Given the description of an element on the screen output the (x, y) to click on. 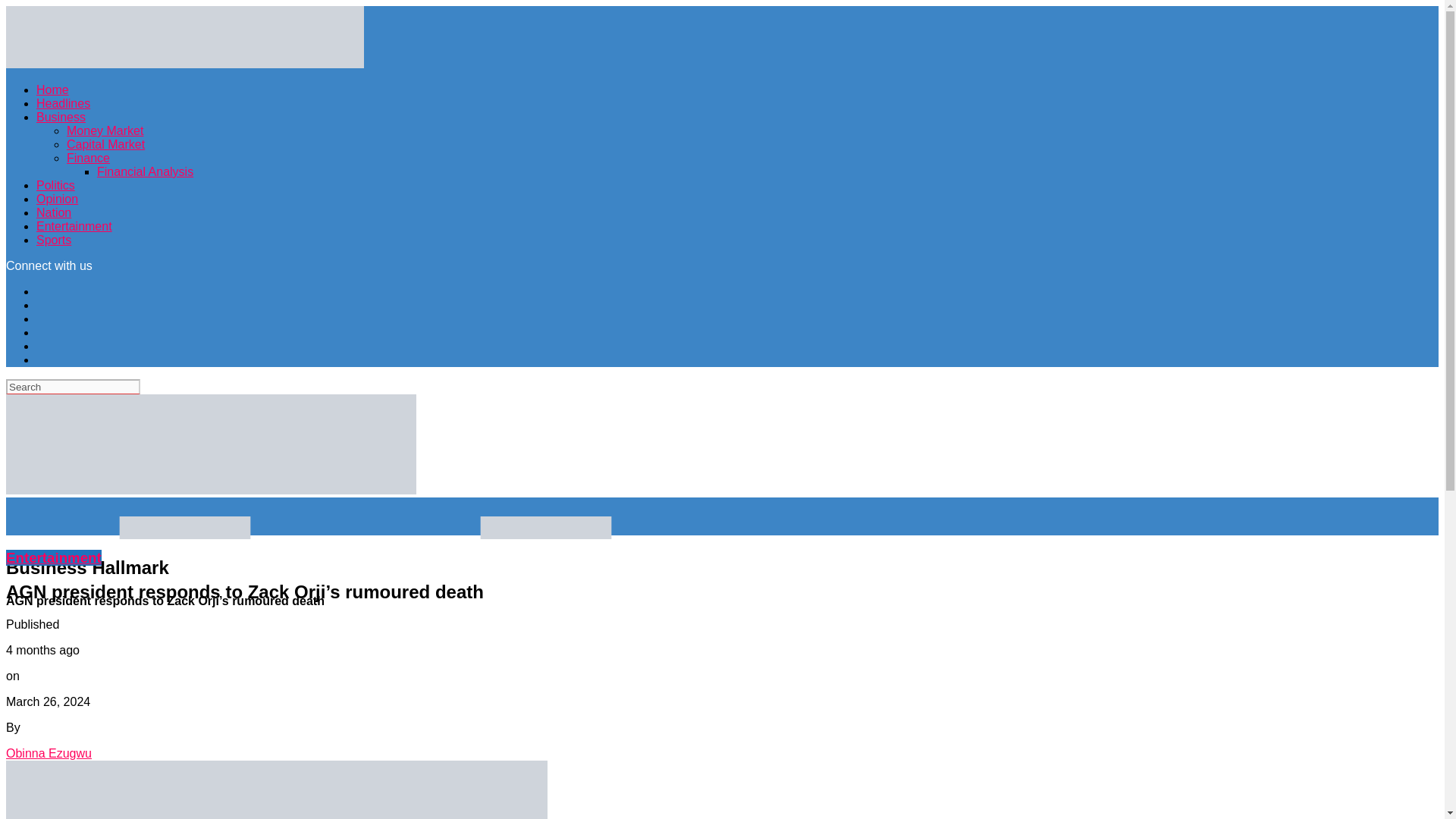
Financial Analysis (145, 171)
Home (52, 89)
Finance (88, 157)
Politics (55, 185)
Sports (53, 239)
Money Market (104, 130)
Search (72, 386)
Nation (53, 212)
Entertainment (74, 226)
Opinion (57, 198)
Headlines (63, 103)
Business (60, 116)
Capital Market (105, 144)
